Given the description of an element on the screen output the (x, y) to click on. 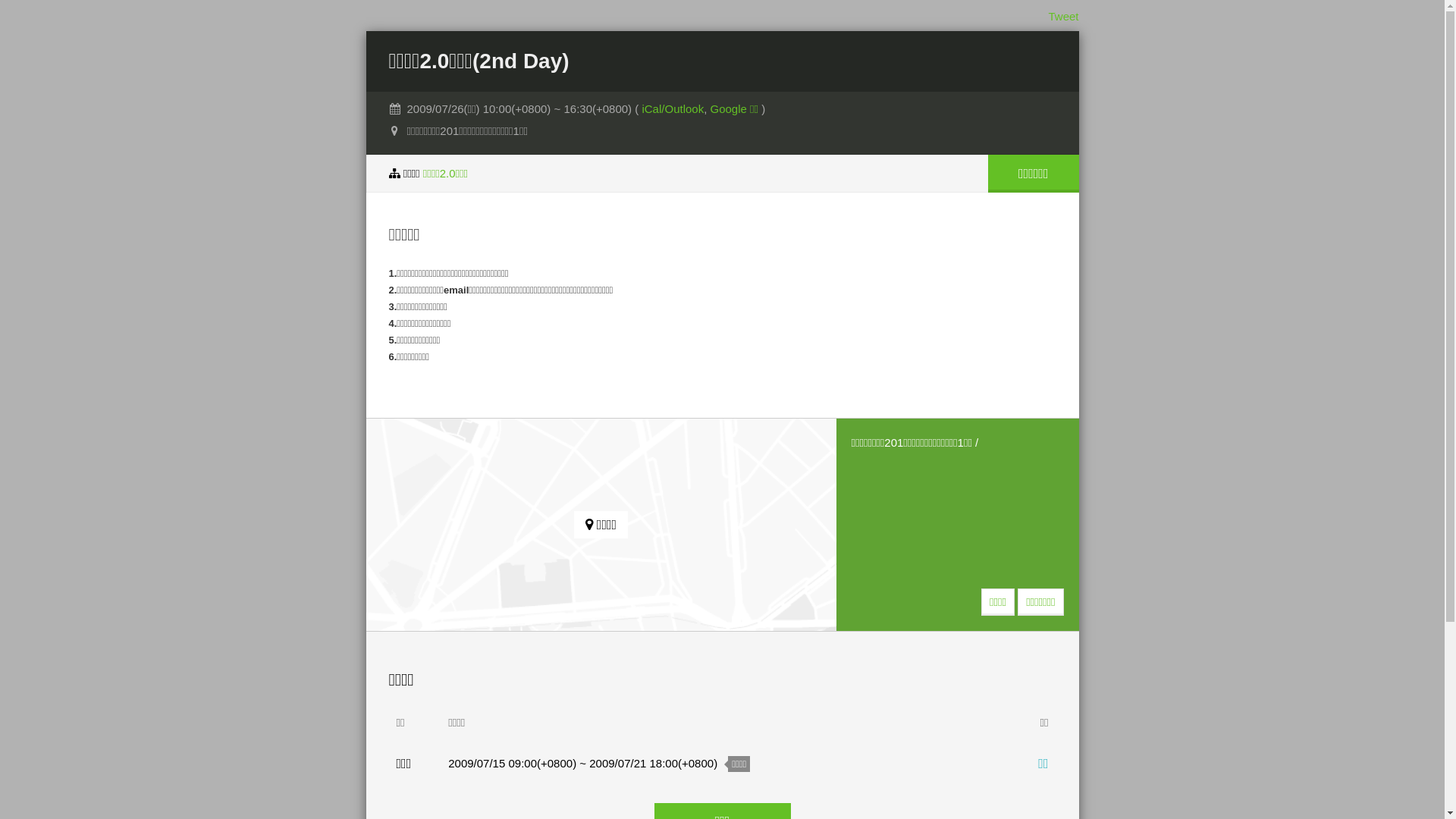
Tweet Element type: text (1063, 15)
iCal/Outlook Element type: text (672, 108)
